Given the description of an element on the screen output the (x, y) to click on. 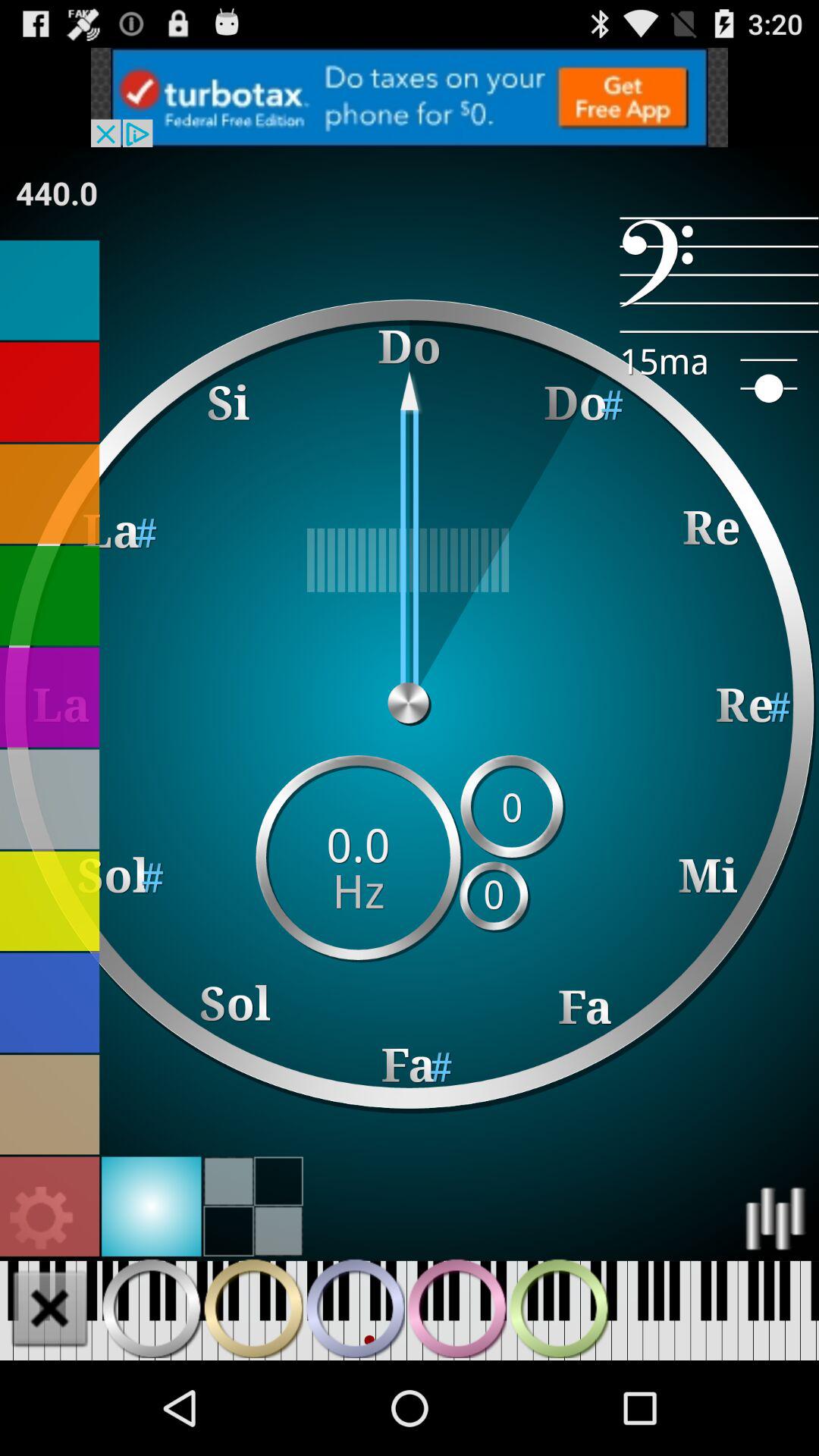
select the 440.0 item (56, 192)
